Given the description of an element on the screen output the (x, y) to click on. 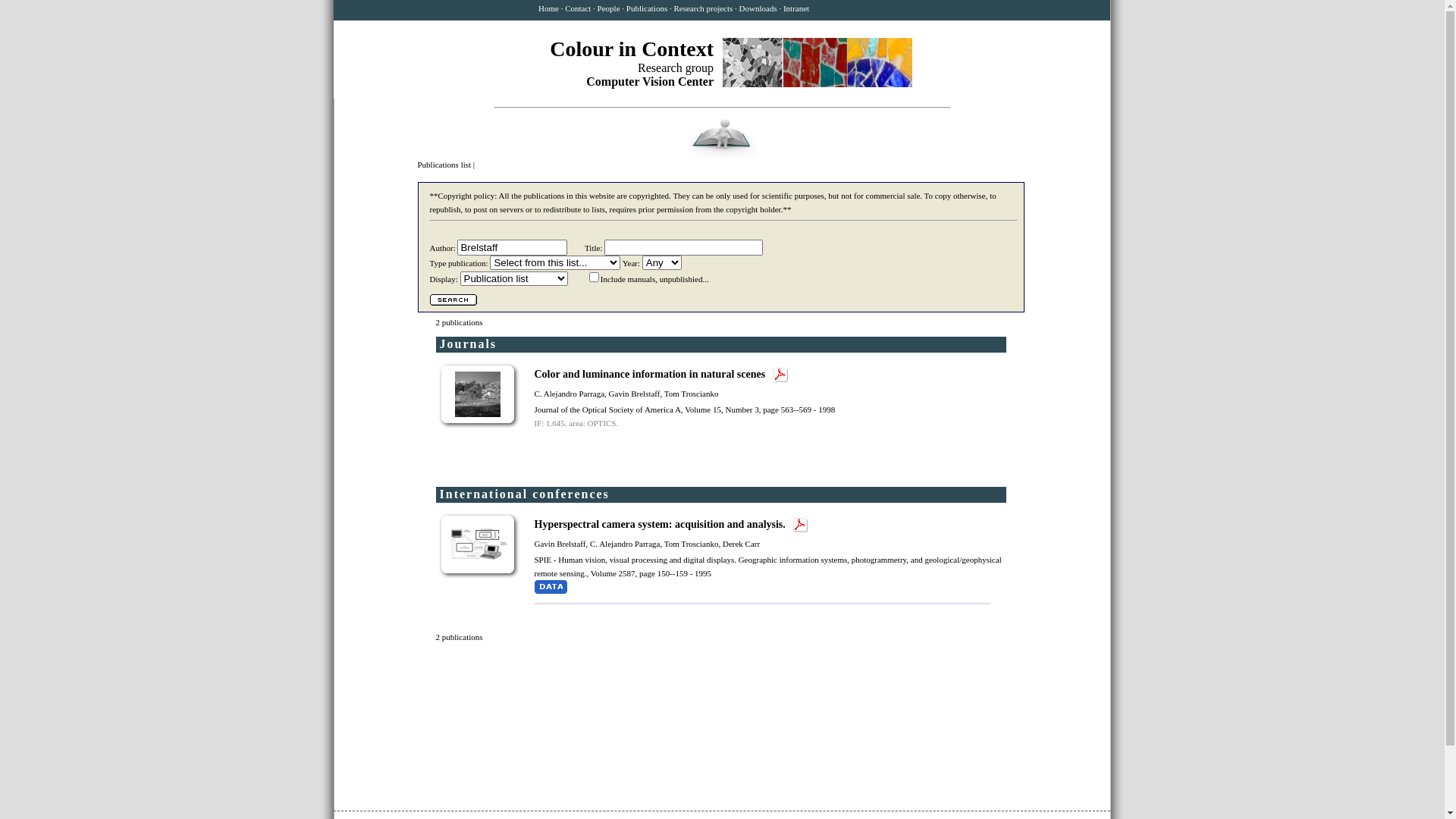
Publications list Element type: text (444, 164)
Research projects Element type: text (702, 7)
Intranet Element type: text (796, 7)
Downloads Element type: text (758, 7)
C. Alejandro Parraga Element type: text (568, 393)
Contact Element type: text (577, 7)
Hyperspectral camera system: acquisition and analysis. Element type: text (660, 524)
People Element type: text (608, 7)
Home Element type: text (548, 7)
Color and luminance information in natural scenes Element type: text (650, 373)
Publications Element type: text (646, 7)
C. Alejandro Parraga Element type: text (624, 543)
